Given the description of an element on the screen output the (x, y) to click on. 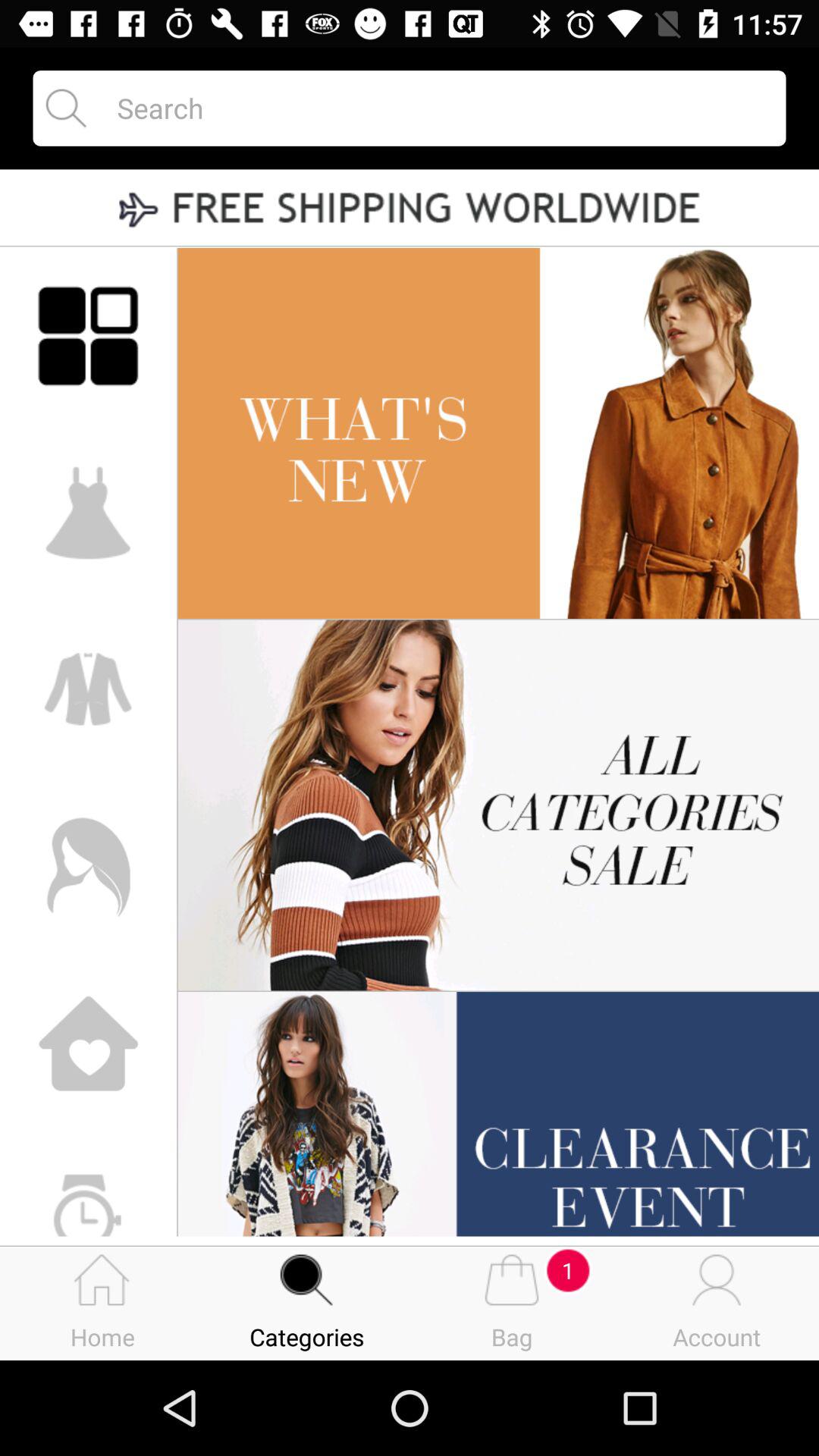
search box (437, 108)
